Given the description of an element on the screen output the (x, y) to click on. 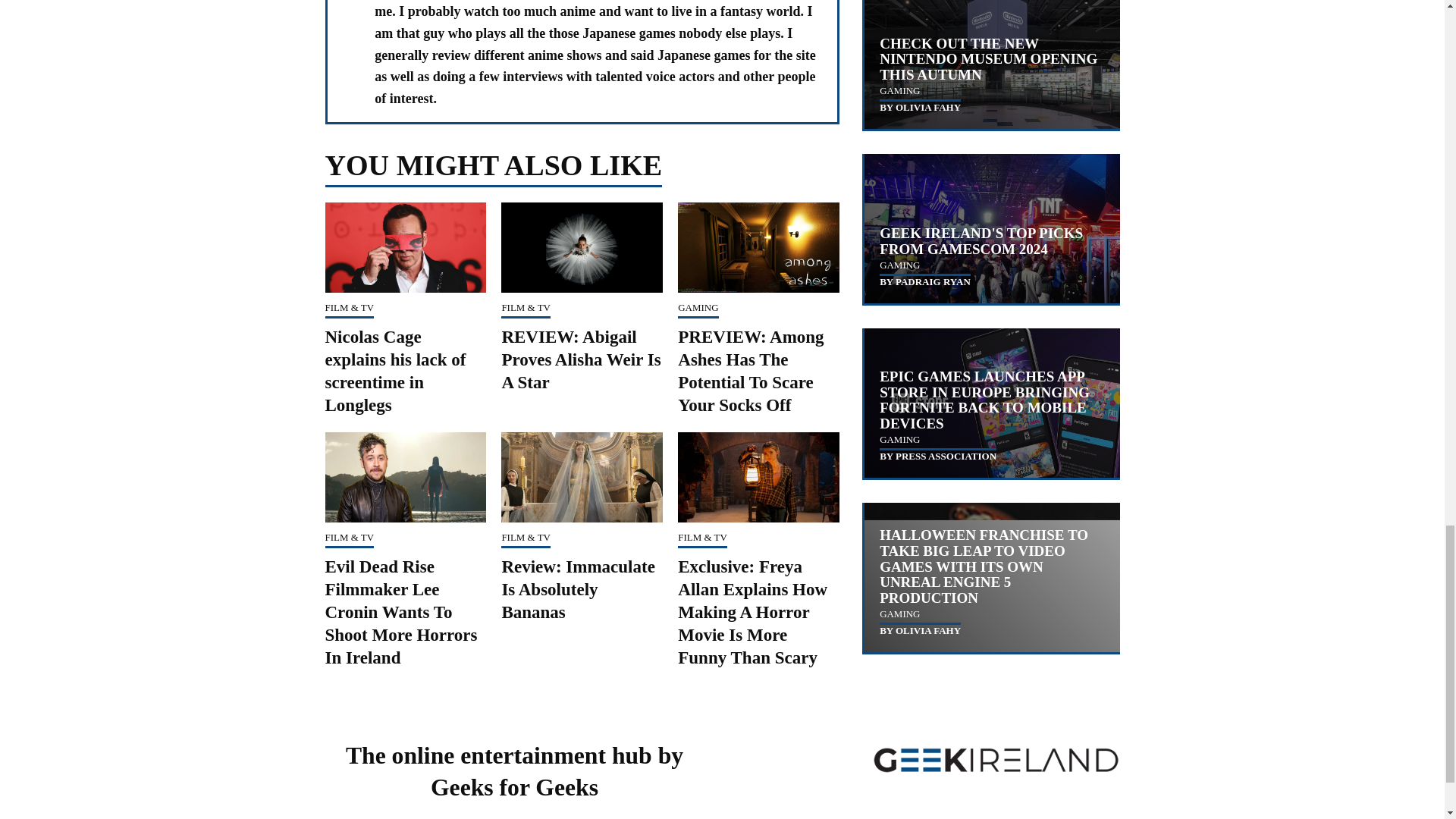
Review: Immaculate Is Absolutely Bananas (576, 589)
GAMING (697, 307)
Nicolas Cage explains his lack of screentime in Longlegs (394, 370)
REVIEW: Abigail Proves Alisha Weir Is A Star (580, 359)
